Given the description of an element on the screen output the (x, y) to click on. 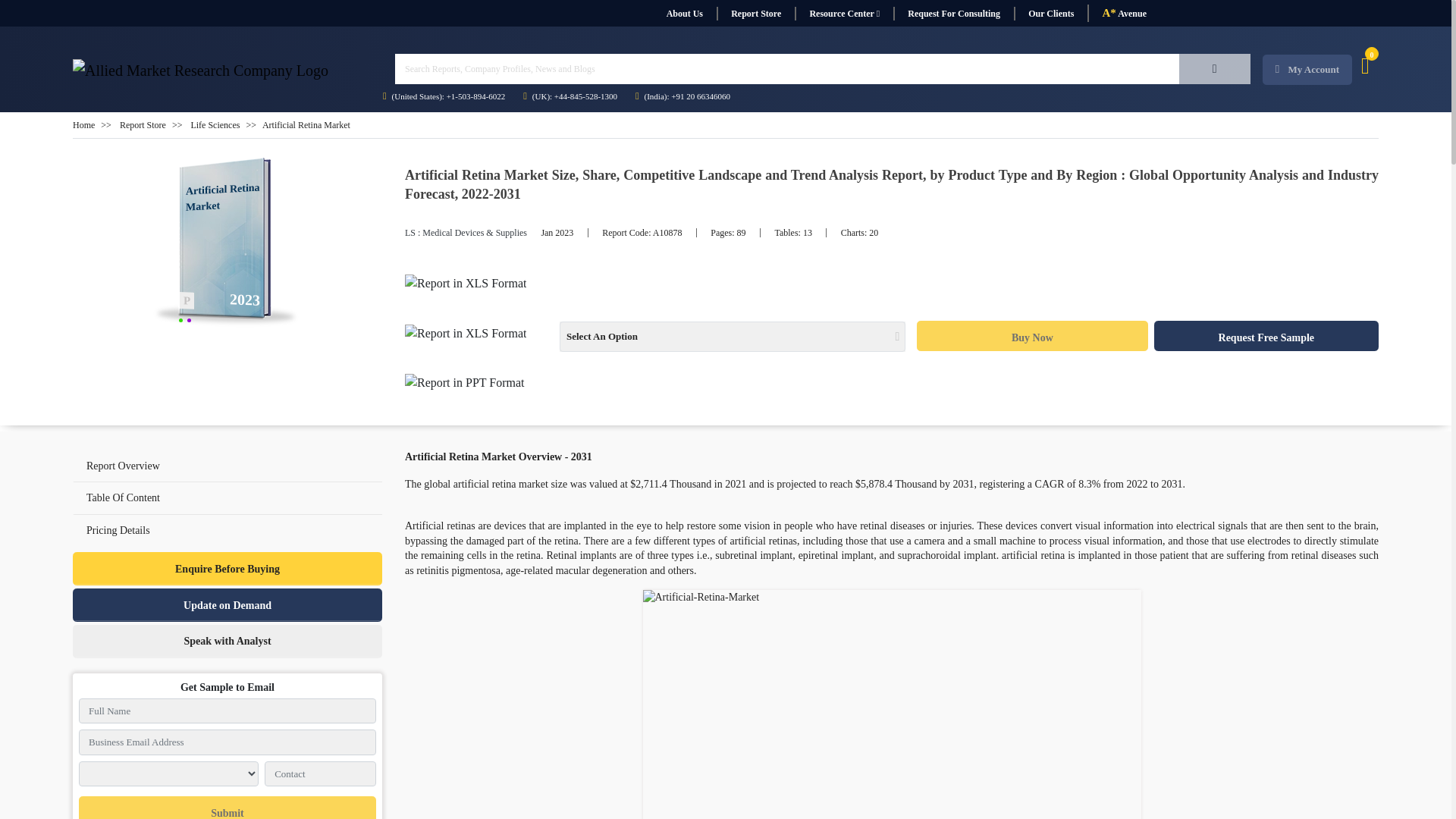
Buy Now (1032, 336)
Resource Center (843, 13)
Artificial Retina Market (227, 242)
About Us (684, 13)
Submit (226, 807)
Allied Market Research (200, 69)
My Account (1307, 69)
Update on Demand (226, 604)
Pricing Details (226, 531)
Report Store (755, 13)
